Given the description of an element on the screen output the (x, y) to click on. 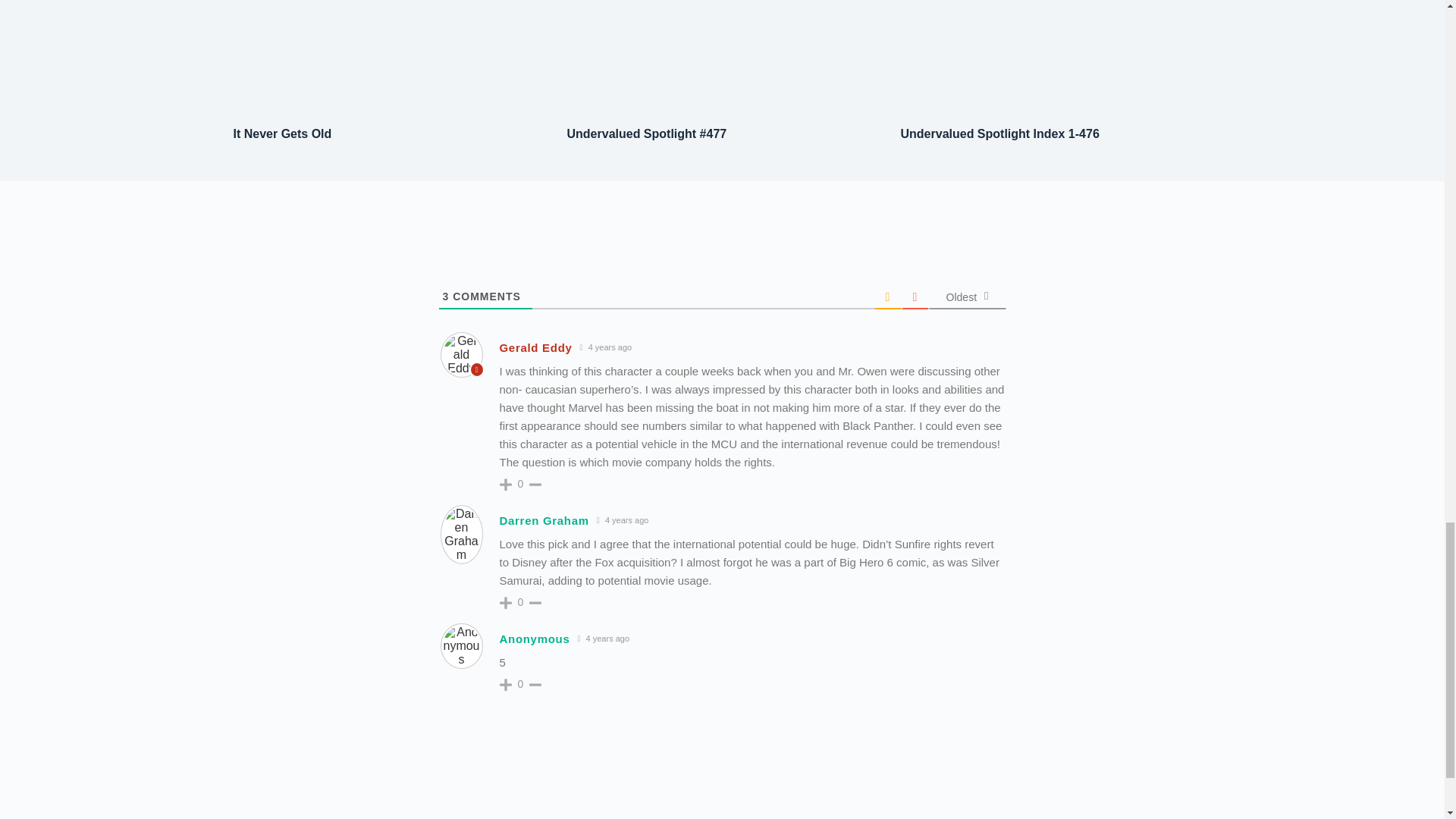
November 26, 2019 7:14 pm (622, 520)
November 26, 2019 1:16 am (606, 347)
0 (520, 483)
